Given the description of an element on the screen output the (x, y) to click on. 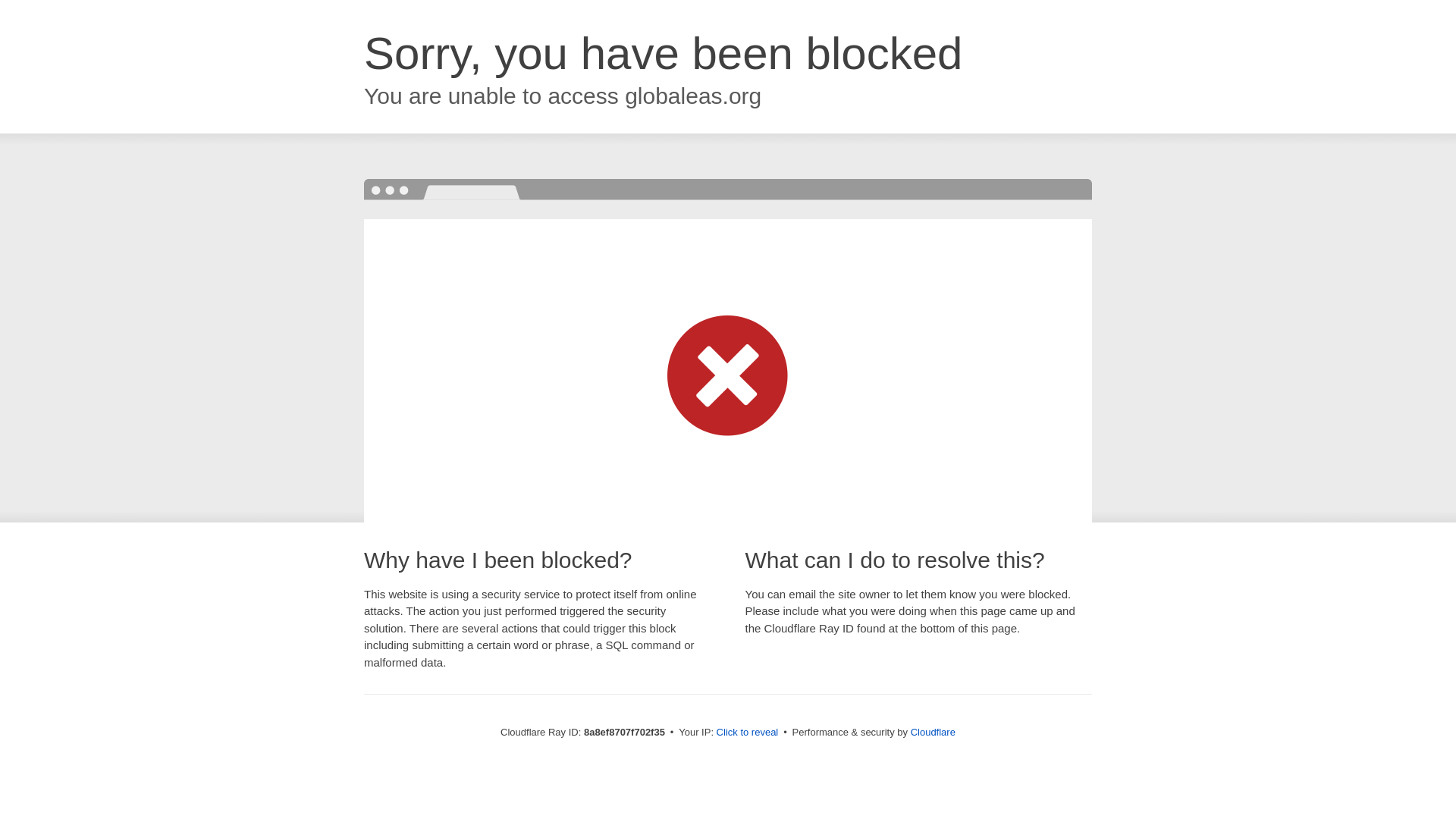
Click to reveal (747, 732)
Cloudflare (933, 731)
